Given the description of an element on the screen output the (x, y) to click on. 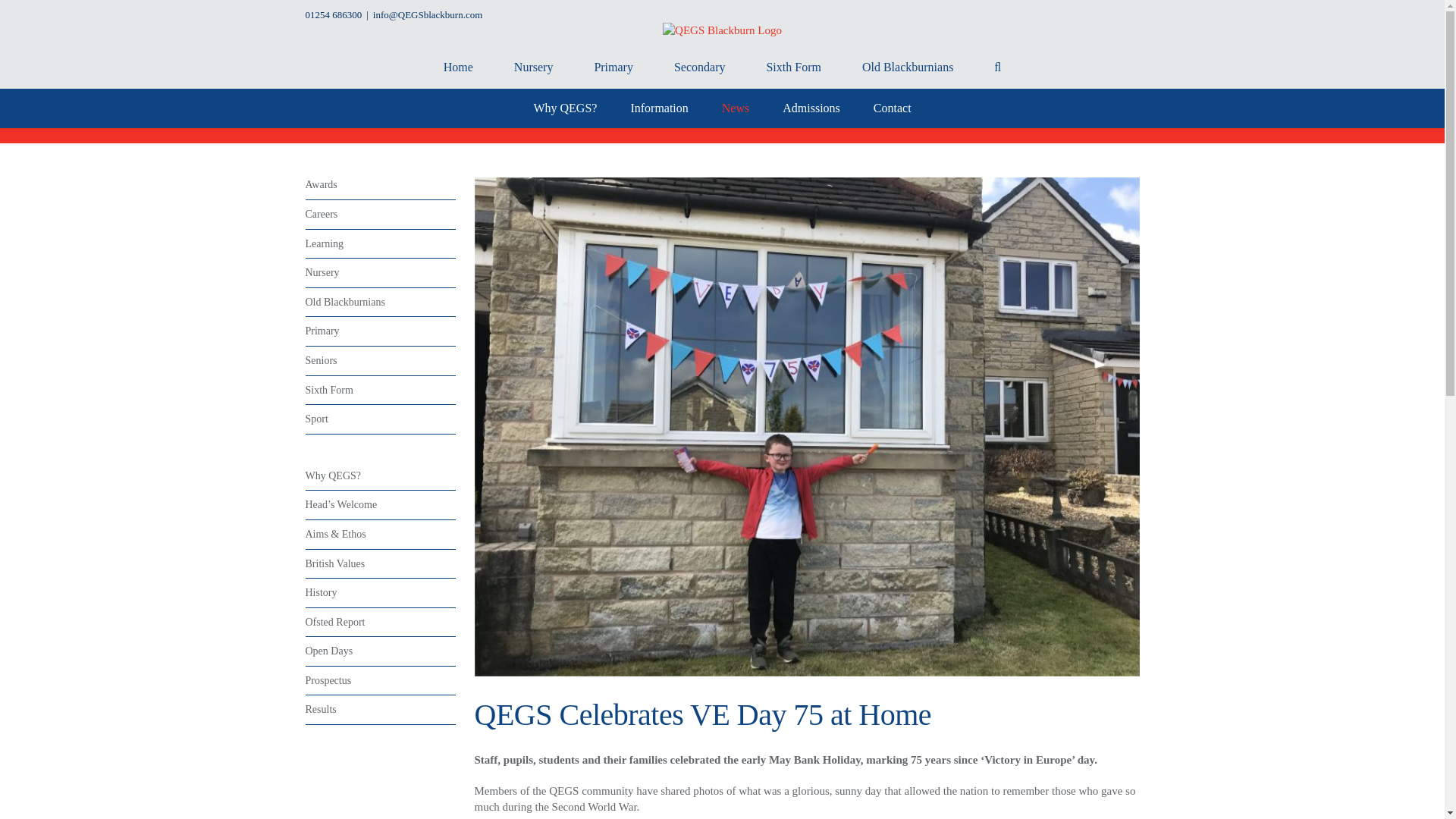
Nursery (533, 66)
Secondary (699, 66)
Primary (613, 66)
